Given the description of an element on the screen output the (x, y) to click on. 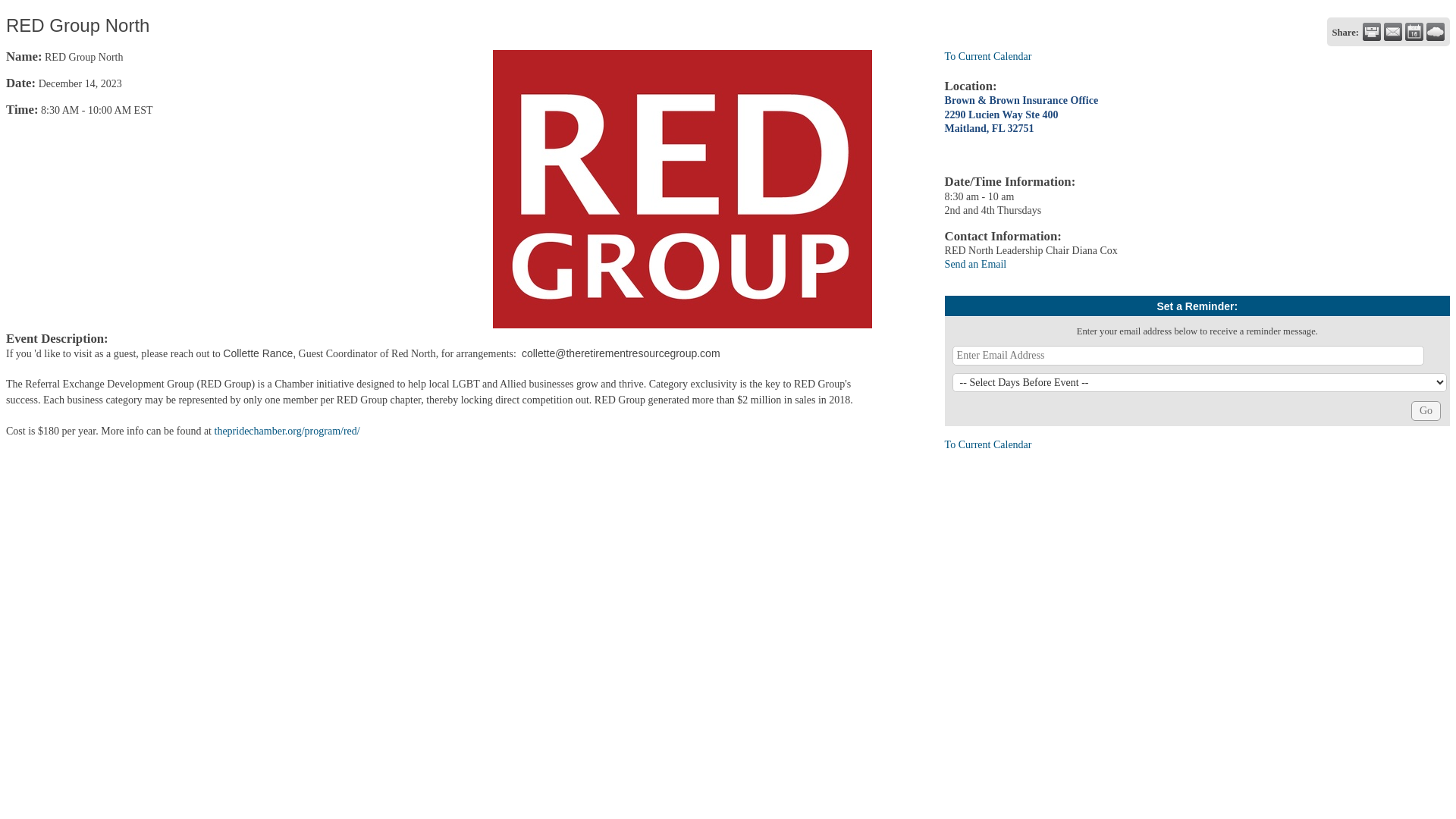
Go (1425, 410)
To Current Calendar (988, 444)
Go (1425, 410)
Email to a Friend (1393, 31)
Send an Email (975, 264)
Enter Email Address (1188, 355)
Print this Page (1371, 31)
Add to Calendar (1414, 31)
To Current Calendar (988, 56)
